Given the description of an element on the screen output the (x, y) to click on. 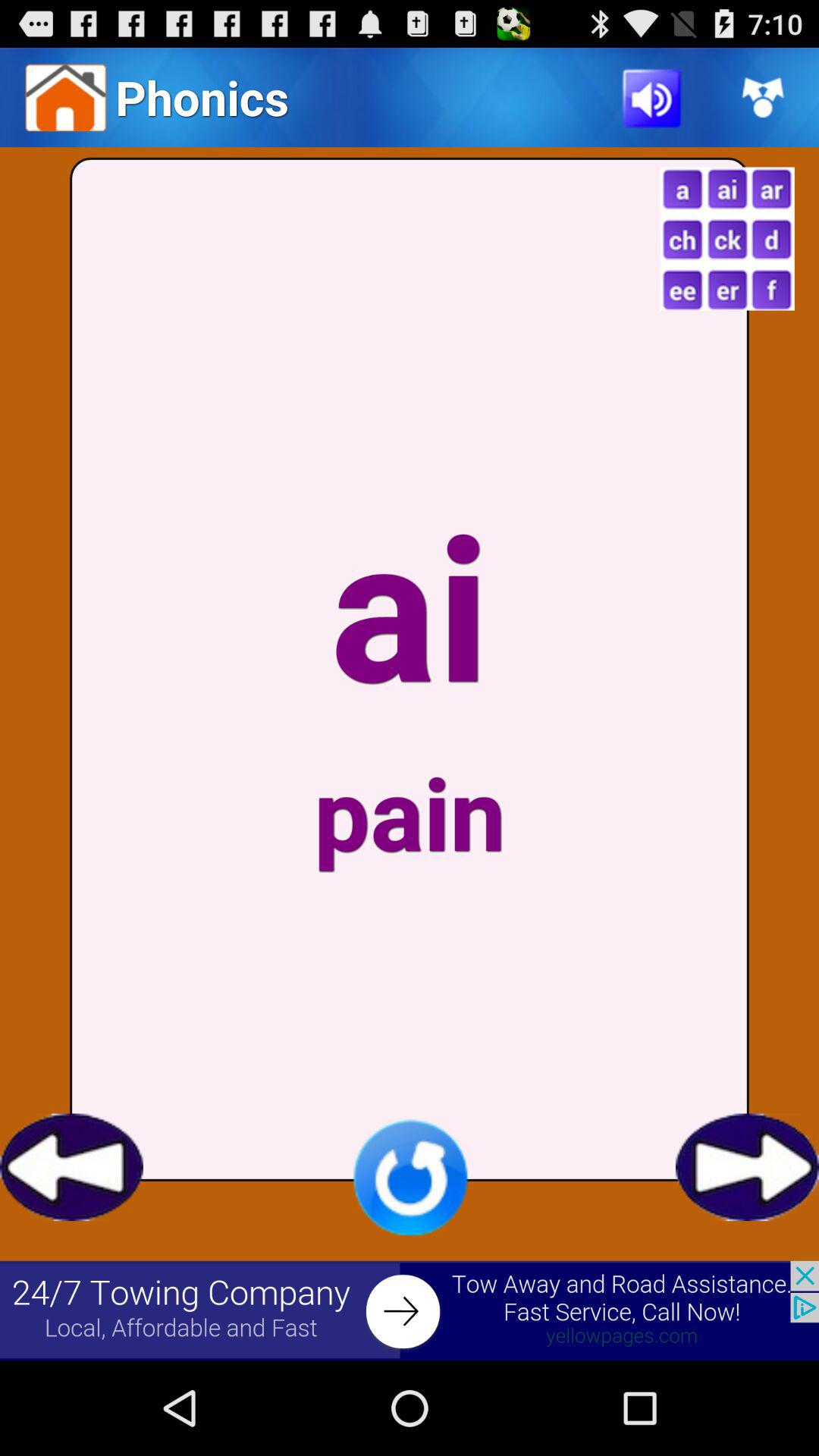
previous screen (71, 1167)
